Given the description of an element on the screen output the (x, y) to click on. 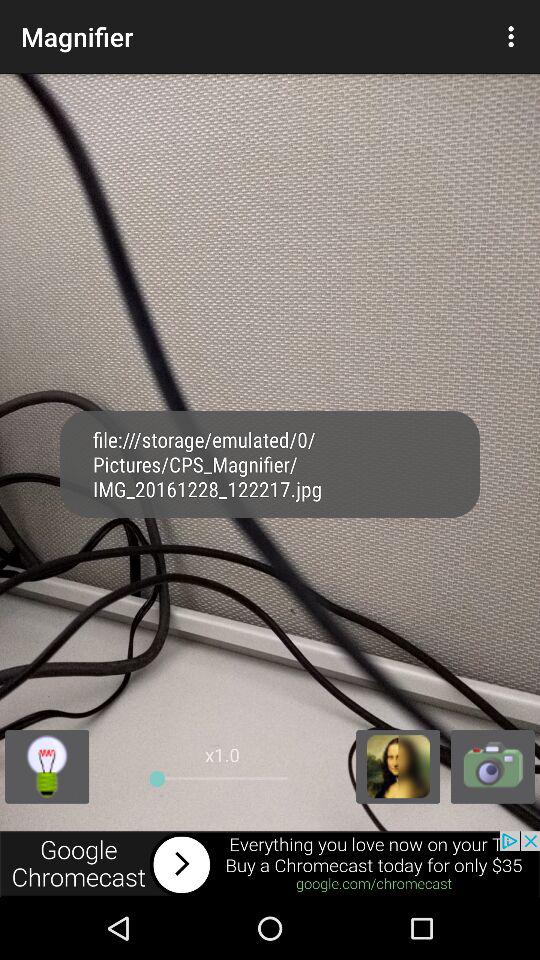
open camera (492, 766)
